Given the description of an element on the screen output the (x, y) to click on. 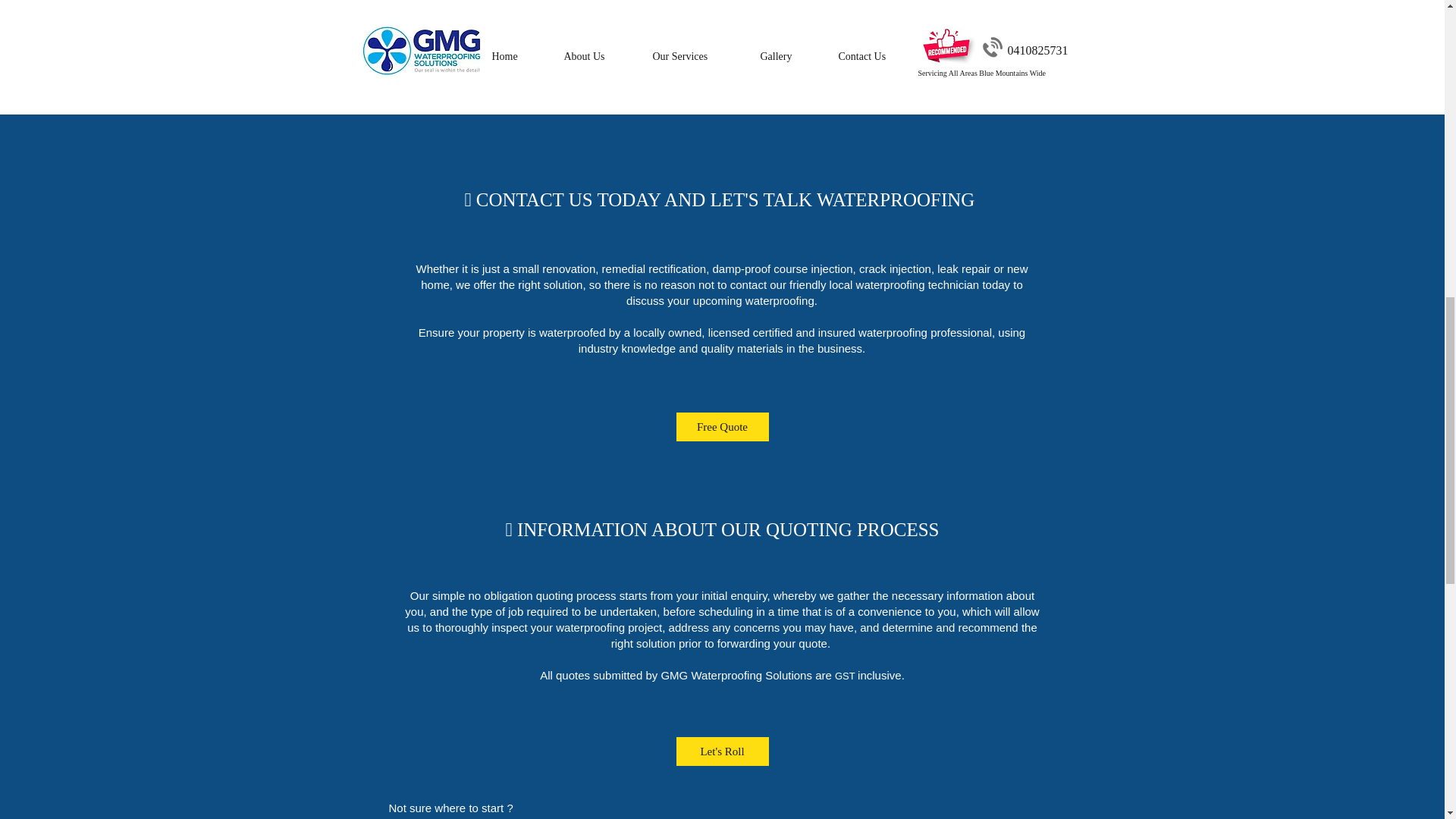
Free Quote (722, 426)
